Given the description of an element on the screen output the (x, y) to click on. 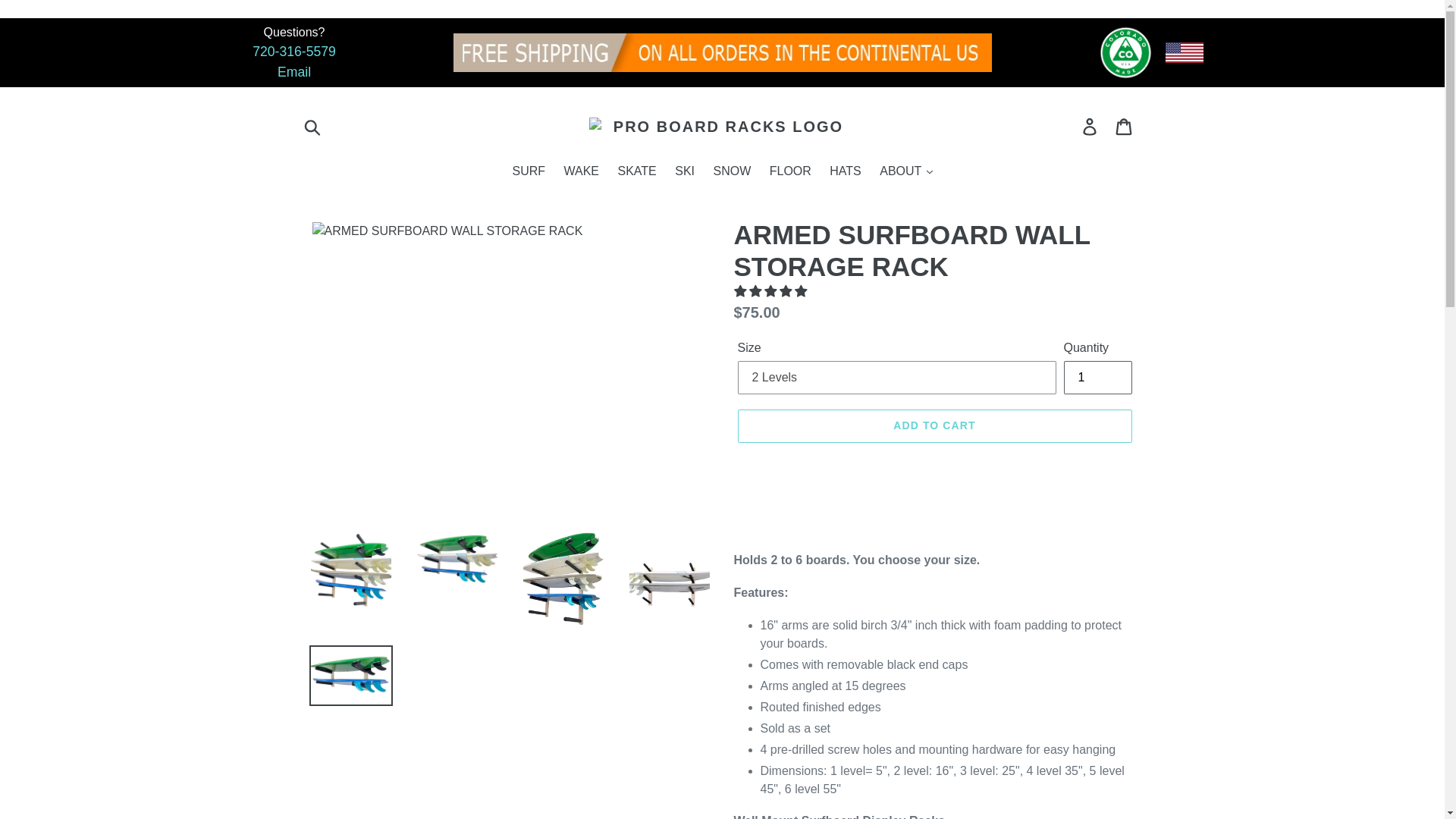
SKATE (636, 172)
FLOOR (789, 172)
SKI (683, 172)
HATS (844, 172)
WAKE (581, 172)
SURF (528, 172)
SNOW (731, 172)
SKI (683, 172)
Cart (1124, 126)
SNOW (731, 172)
